Given the description of an element on the screen output the (x, y) to click on. 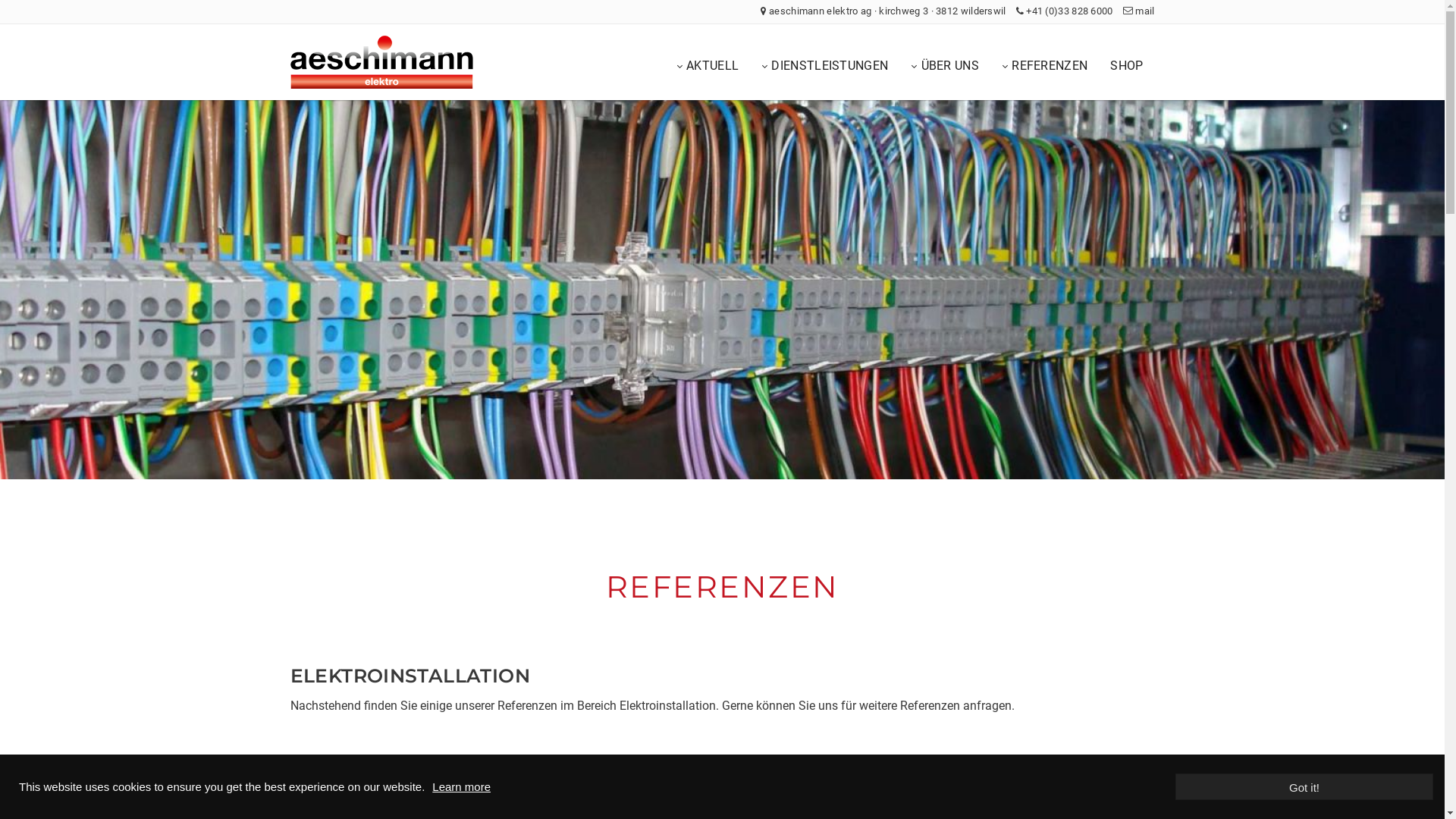
Offene Lehrstellen Element type: text (635, 102)
Learn more Element type: text (461, 786)
REFERENZEN Element type: text (1044, 66)
AKTUELL Element type: text (707, 66)
DIENSTLEISTUNGEN Element type: text (824, 66)
Firma Element type: text (876, 102)
Got it! Element type: text (1304, 786)
Elektroinstallation Element type: text (785, 102)
+41 (0)33 828 6000 Element type: text (1064, 10)
mail Element type: text (1138, 10)
SHOP Element type: text (1126, 65)
Elektroinstallation Element type: text (984, 102)
